Given the description of an element on the screen output the (x, y) to click on. 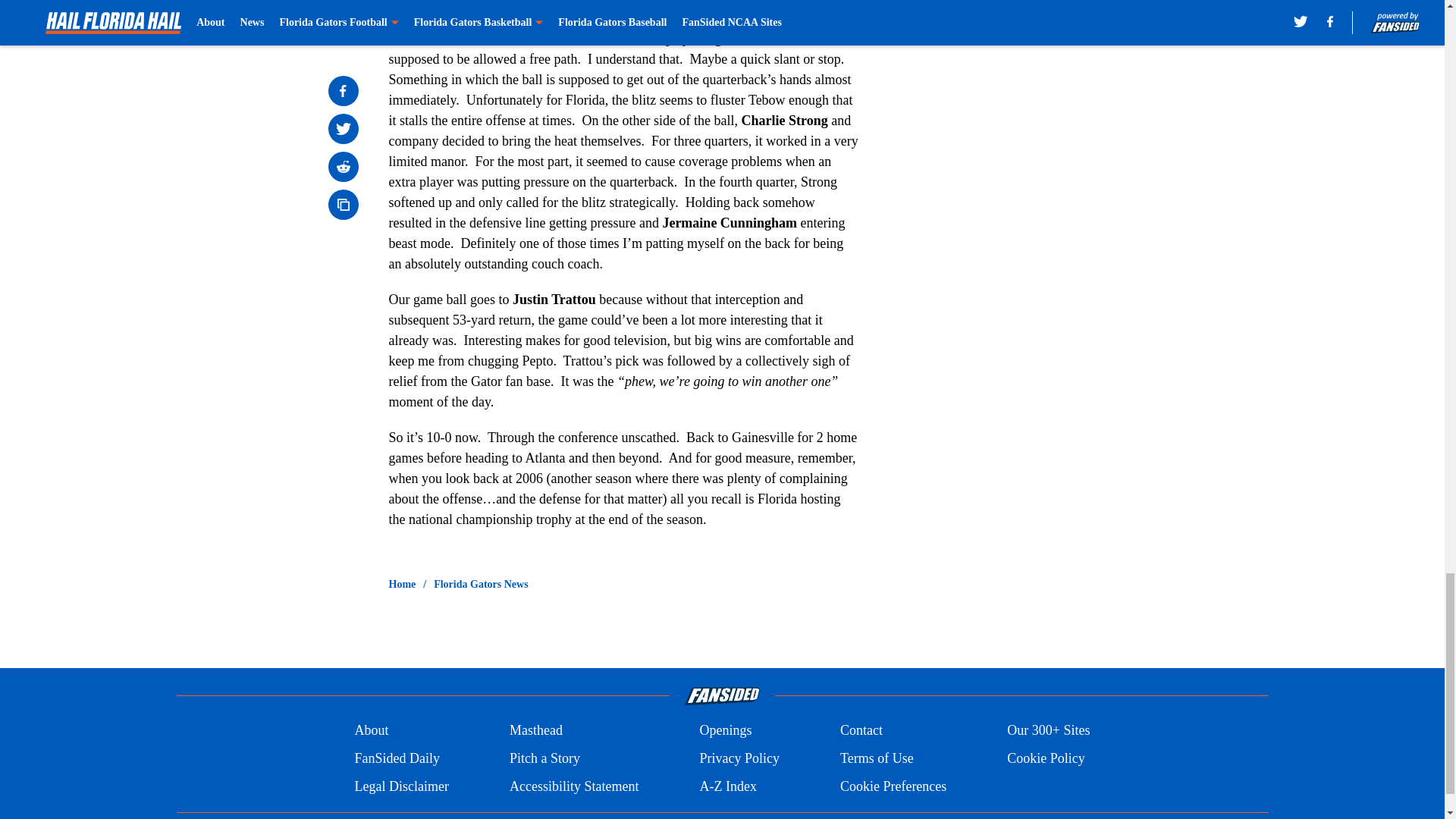
Openings (724, 729)
Cookie Preferences (893, 785)
A-Z Index (726, 785)
Legal Disclaimer (400, 785)
About (370, 729)
Accessibility Statement (574, 785)
FanSided Daily (396, 758)
Terms of Use (877, 758)
Florida Gators News (480, 584)
Masthead (535, 729)
Contact (861, 729)
Pitch a Story (544, 758)
Cookie Policy (1045, 758)
Home (401, 584)
Privacy Policy (738, 758)
